Given the description of an element on the screen output the (x, y) to click on. 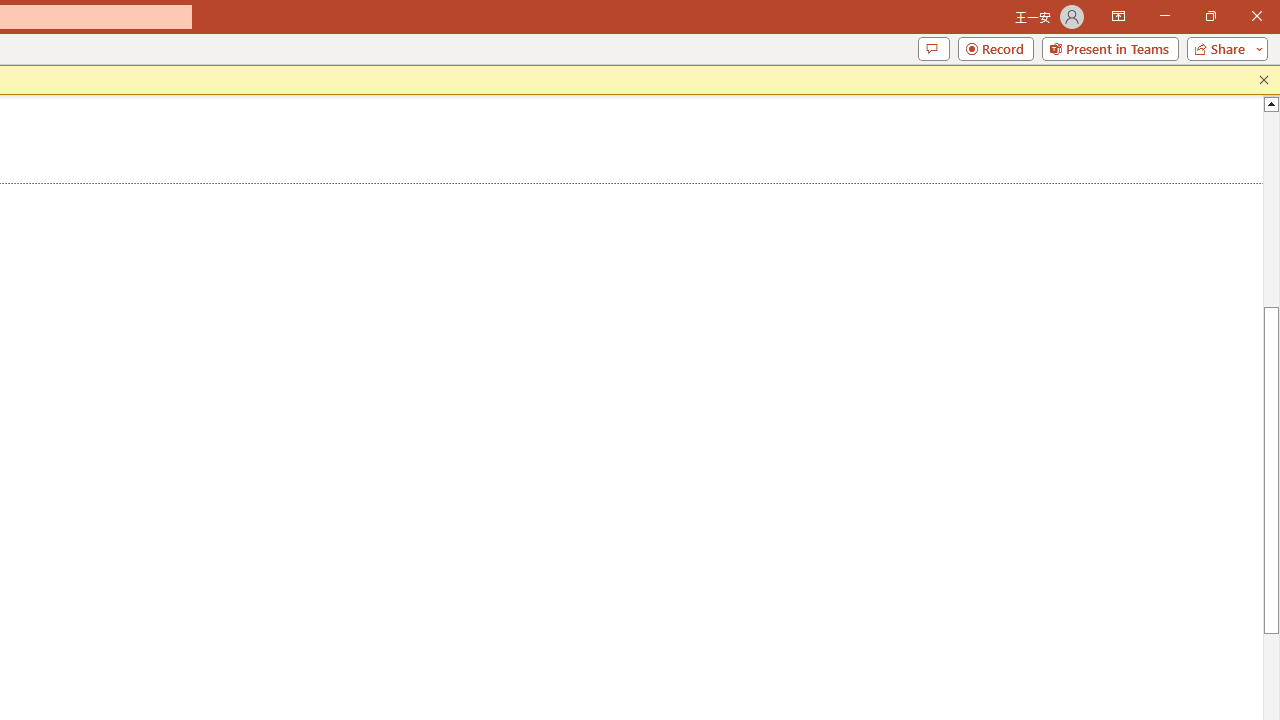
Close this message (1263, 80)
